Given the description of an element on the screen output the (x, y) to click on. 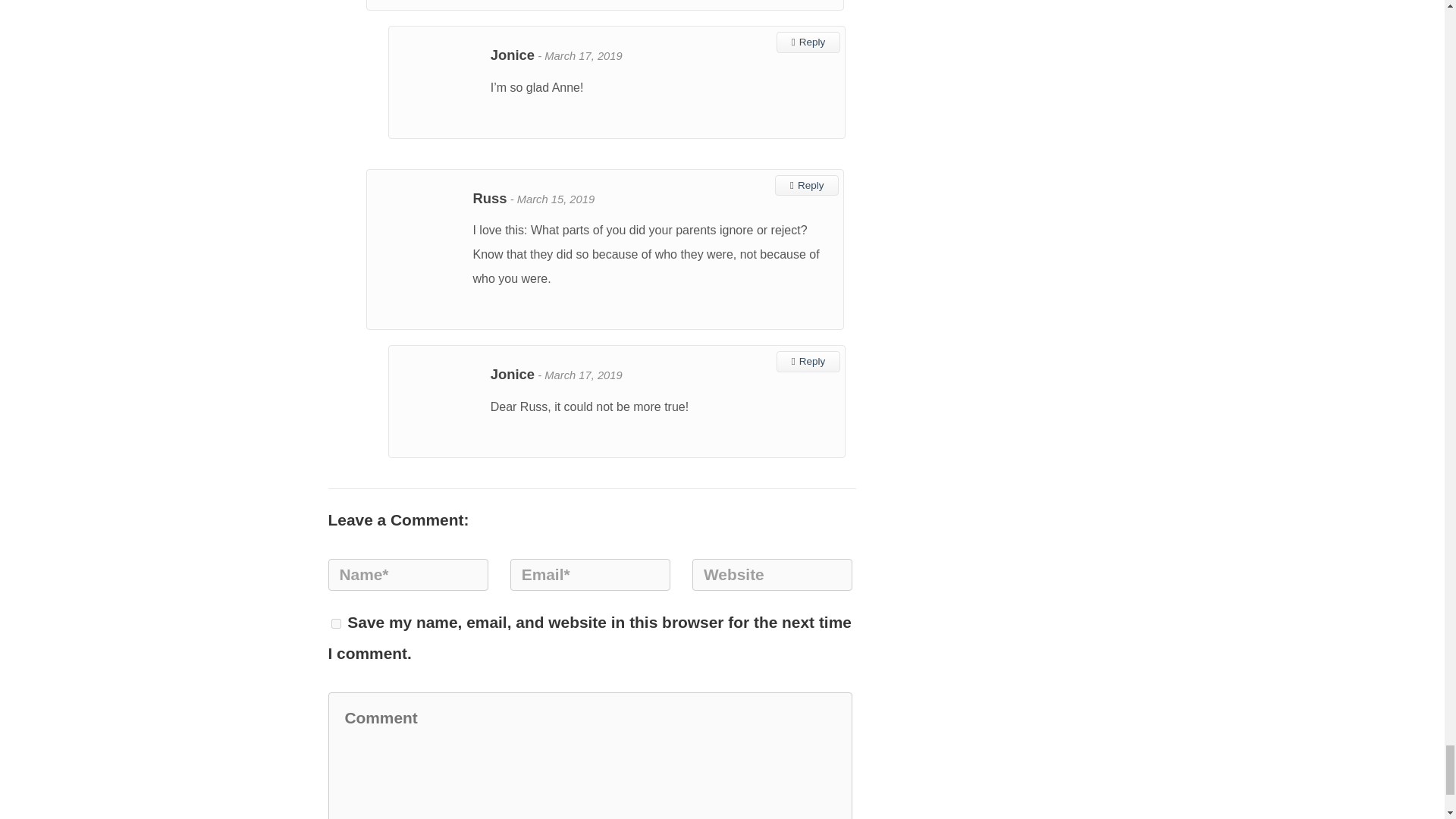
yes (335, 623)
